Given the description of an element on the screen output the (x, y) to click on. 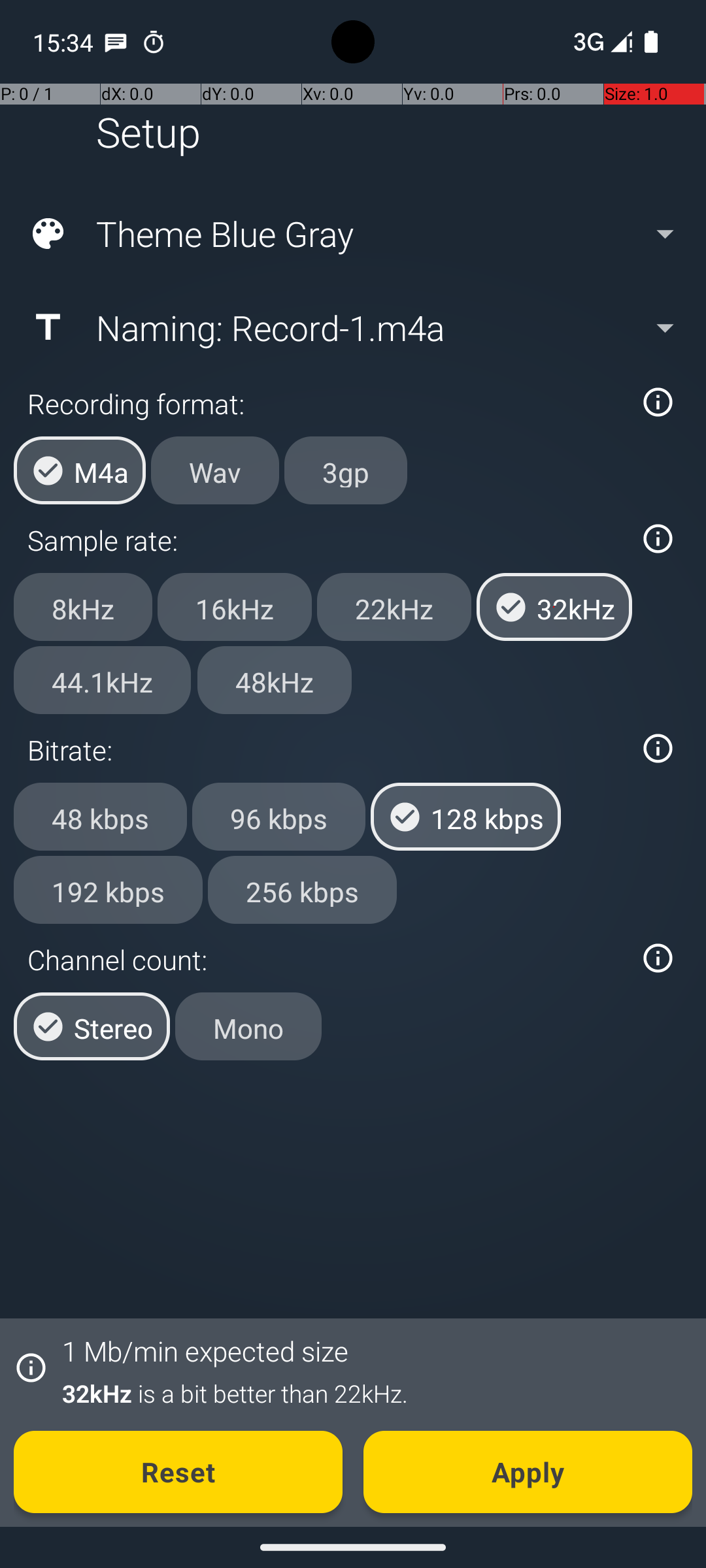
32kHz is a bit better than 22kHz. Element type: android.widget.TextView (370, 1392)
